Given the description of an element on the screen output the (x, y) to click on. 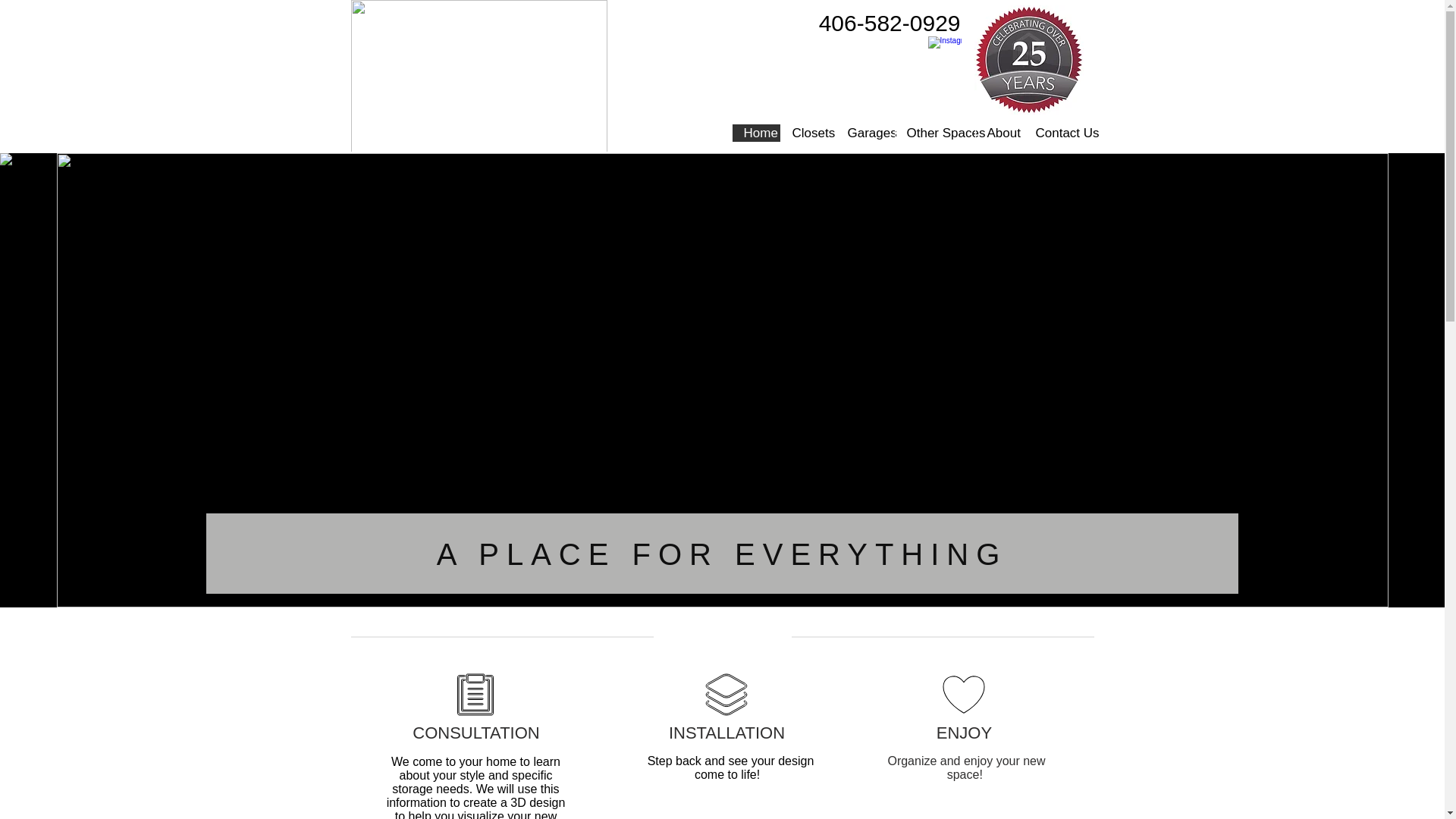
Home (754, 132)
About (999, 132)
Garages (865, 132)
Other Spaces (935, 132)
Closets (806, 132)
Contact Us (1058, 132)
